Given the description of an element on the screen output the (x, y) to click on. 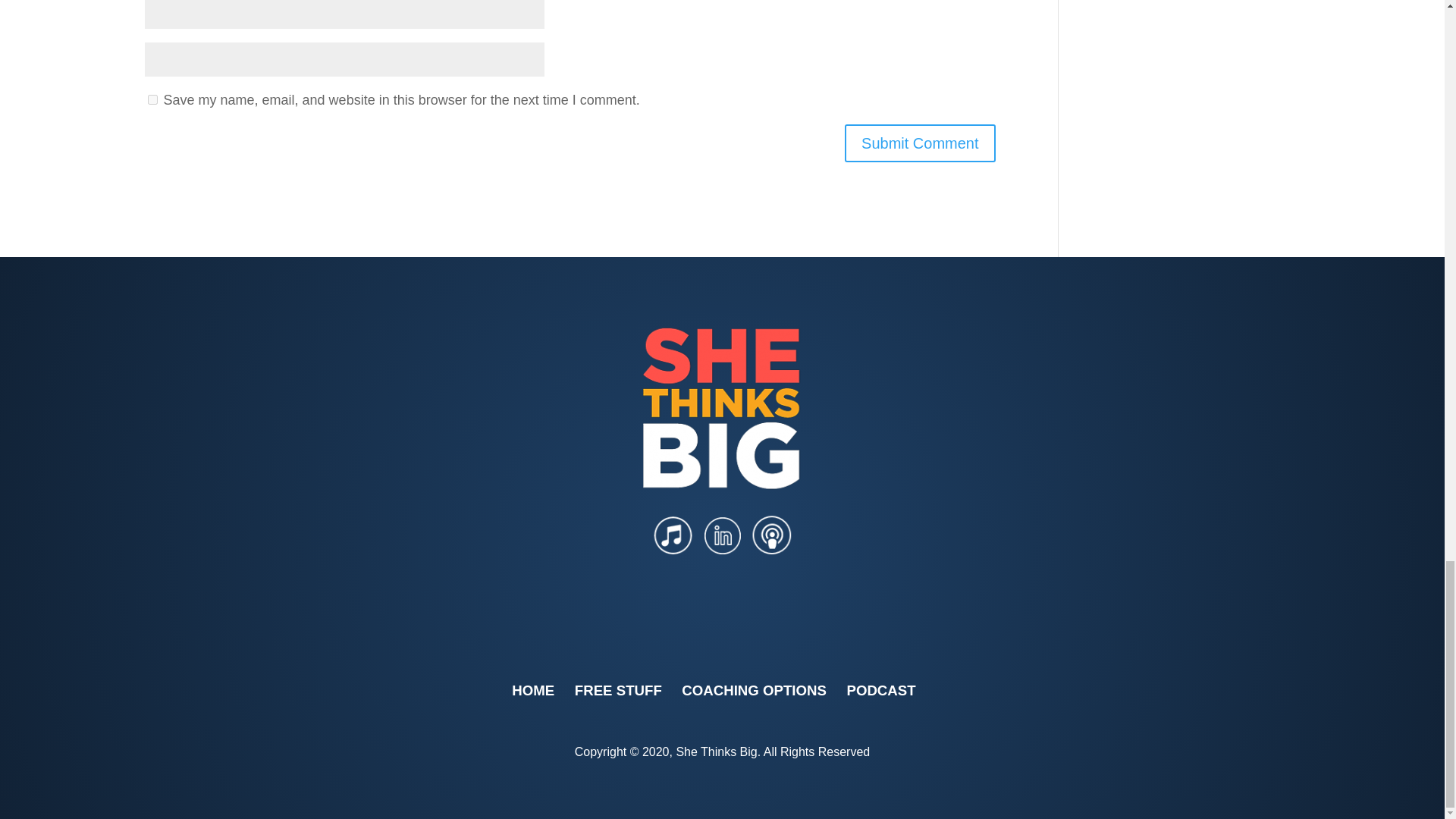
COACHING OPTIONS (754, 690)
FREE STUFF (618, 690)
Submit Comment (919, 143)
PODCAST (880, 690)
HOME (533, 690)
Submit Comment (919, 143)
yes (152, 99)
